Given the description of an element on the screen output the (x, y) to click on. 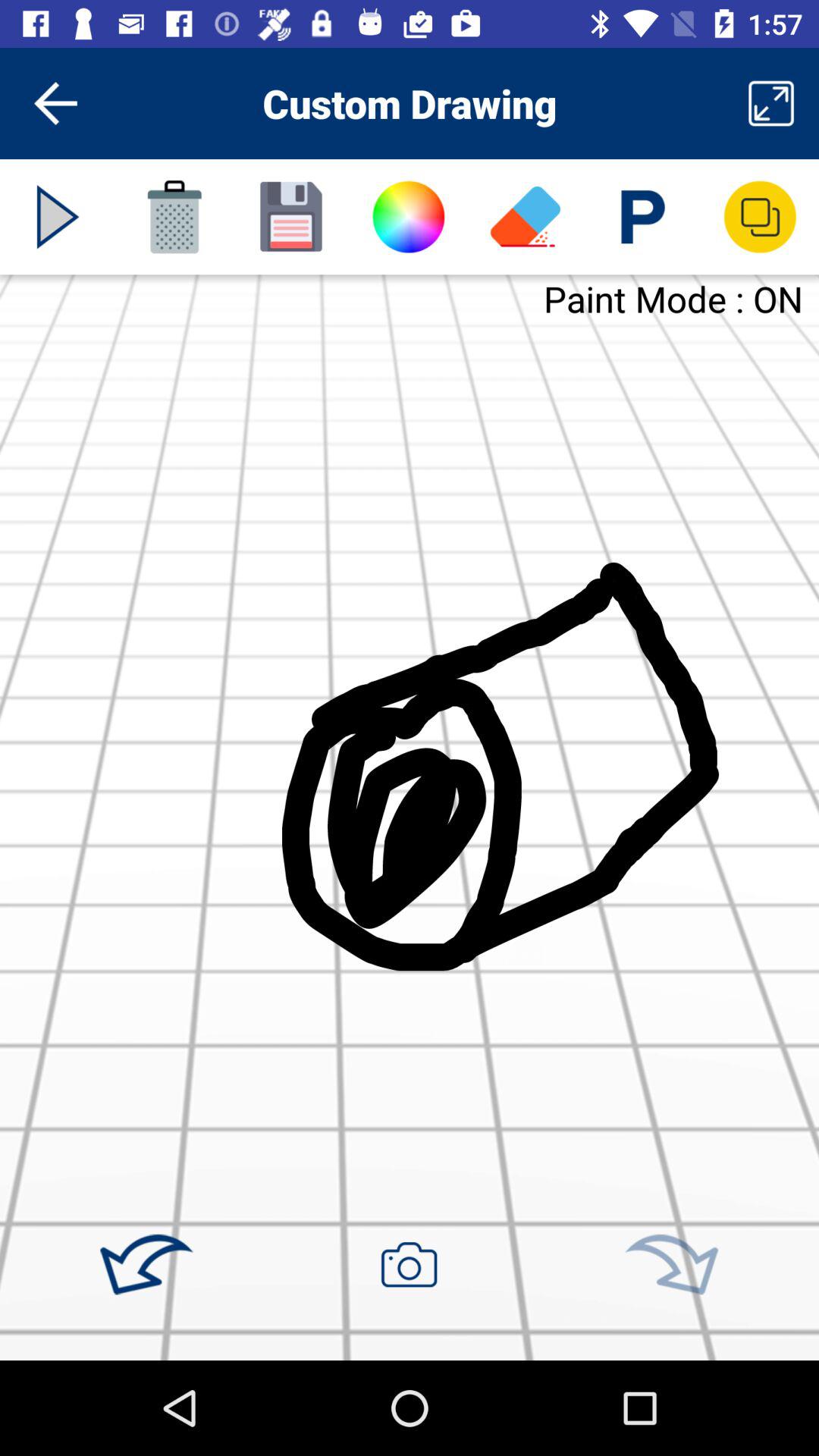
erase button (525, 216)
